Given the description of an element on the screen output the (x, y) to click on. 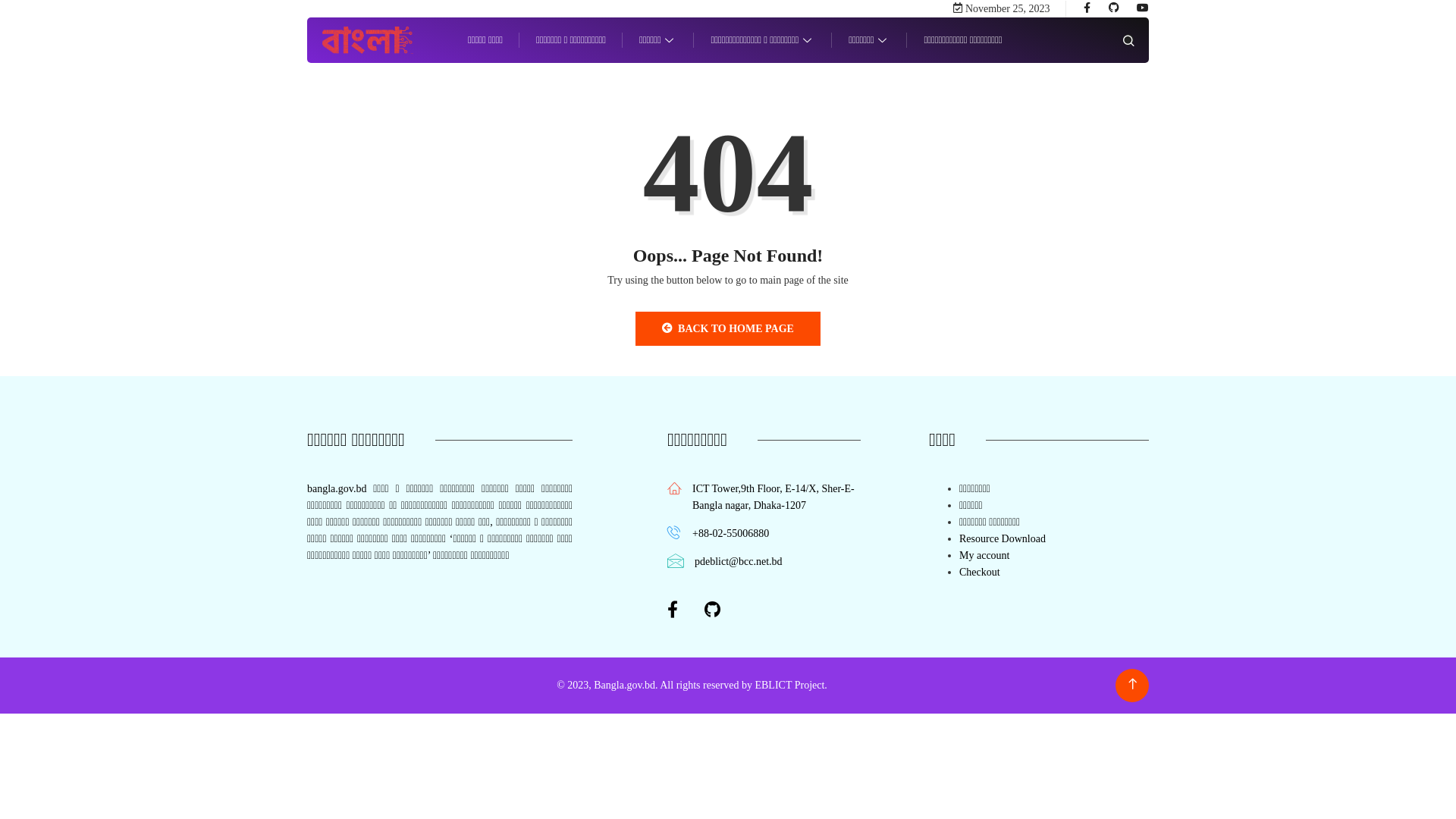
popup modal for search Element type: hover (1128, 39)
My account Element type: text (984, 555)
BACK TO HOME PAGE Element type: text (727, 328)
Resource Download Element type: text (1002, 538)
Youtube Element type: hover (1142, 8)
facebook Element type: hover (1086, 8)
Github Element type: hover (1113, 8)
Checkout Element type: text (979, 571)
